Given the description of an element on the screen output the (x, y) to click on. 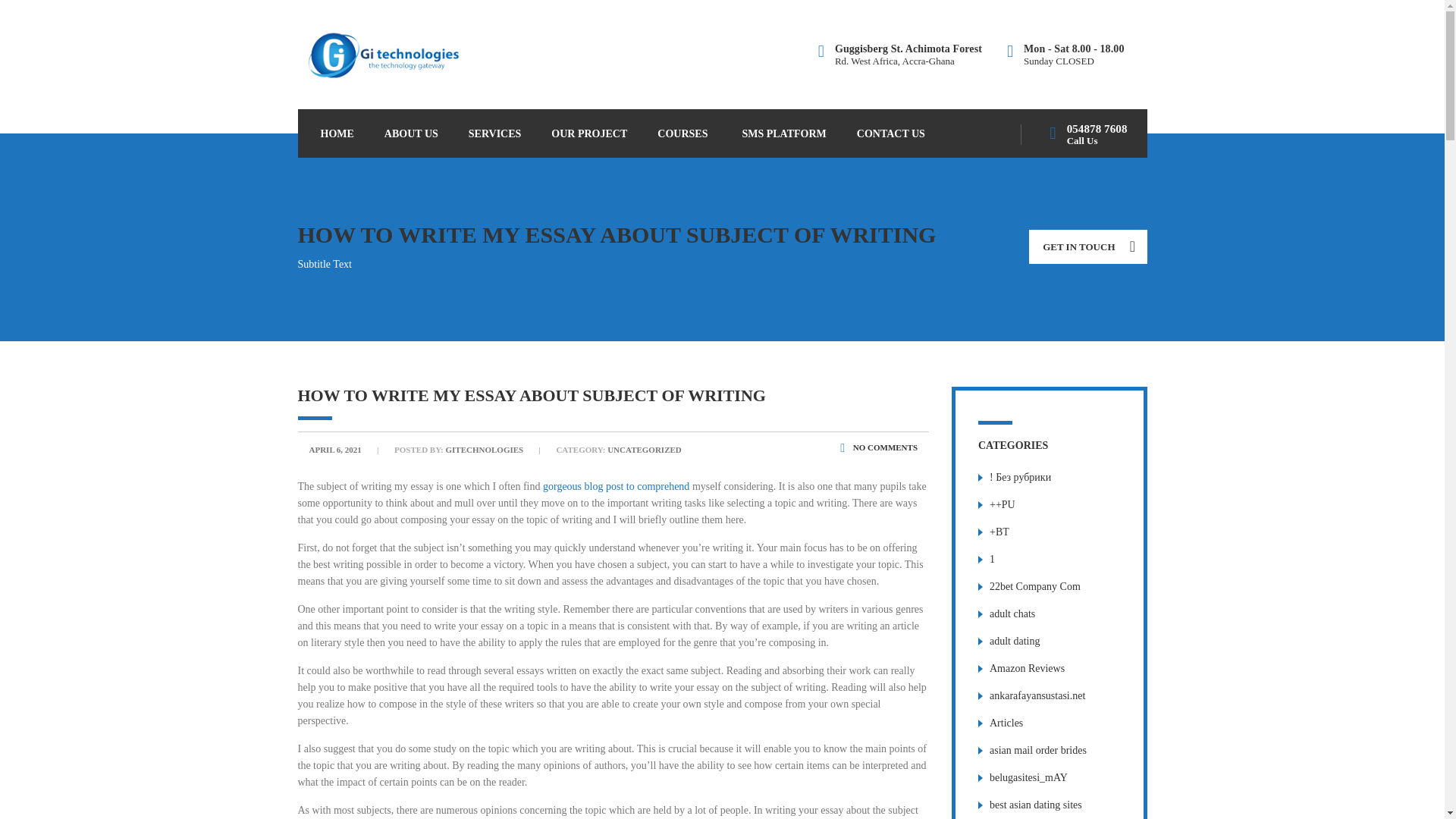
Amazon Reviews (1027, 668)
GET IN TOUCH (1088, 246)
SMS PLATFORM (783, 133)
22bet Company Com (1035, 586)
ankarafayansustasi.net (1037, 695)
OUR PROJECT (588, 133)
SERVICES (494, 133)
HOME (336, 133)
CONTACT US (890, 133)
NO COMMENTS (878, 447)
adult dating (1015, 641)
best asian dating sites (1035, 804)
asian mail order brides (1038, 749)
COURSES (684, 133)
adult chats (1012, 613)
